Given the description of an element on the screen output the (x, y) to click on. 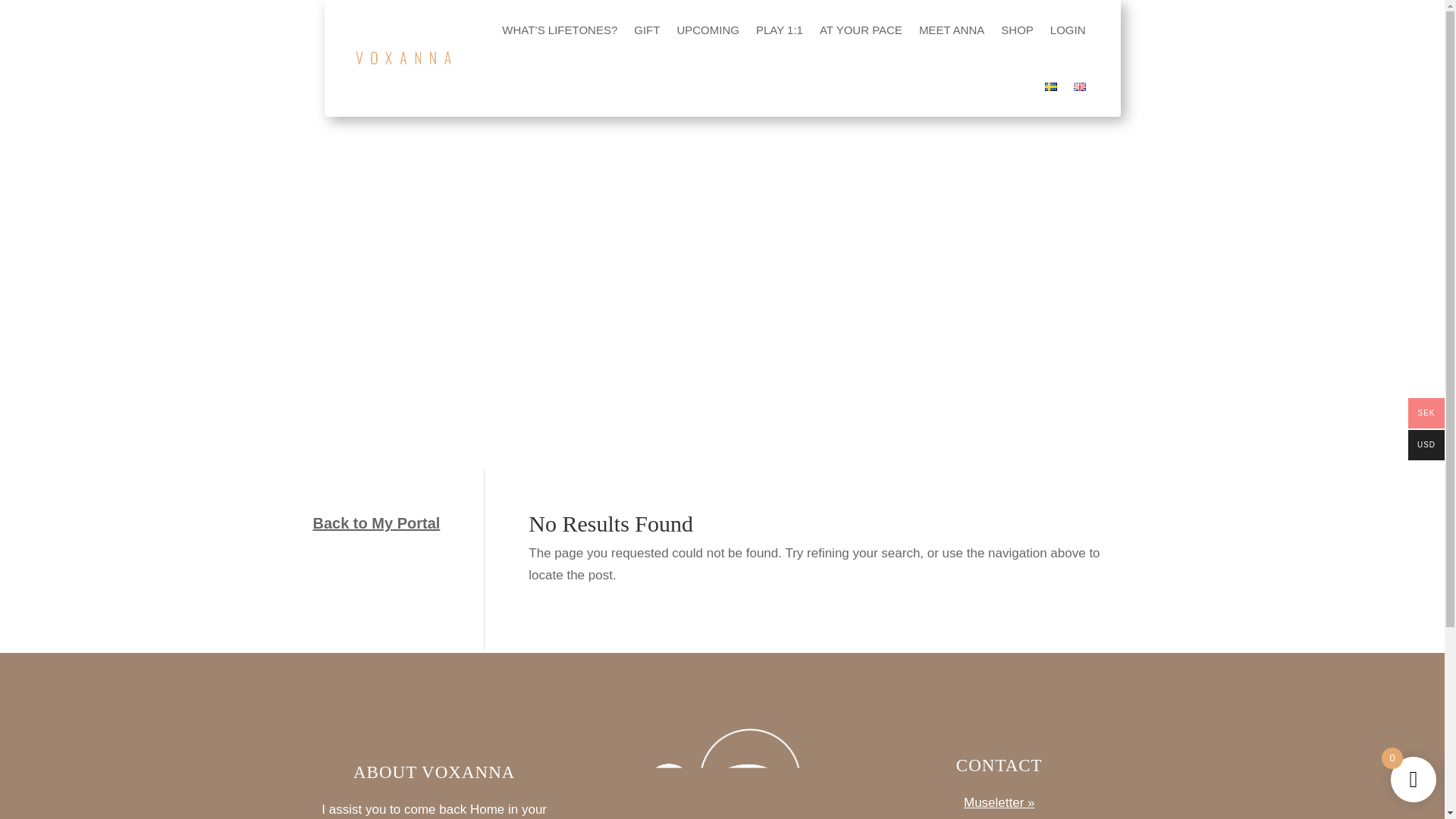
Voxanna logo white (722, 765)
Back to My Portal (376, 523)
AT YOUR PACE (860, 29)
MEET ANNA (951, 29)
UPCOMING (708, 29)
